Given the description of an element on the screen output the (x, y) to click on. 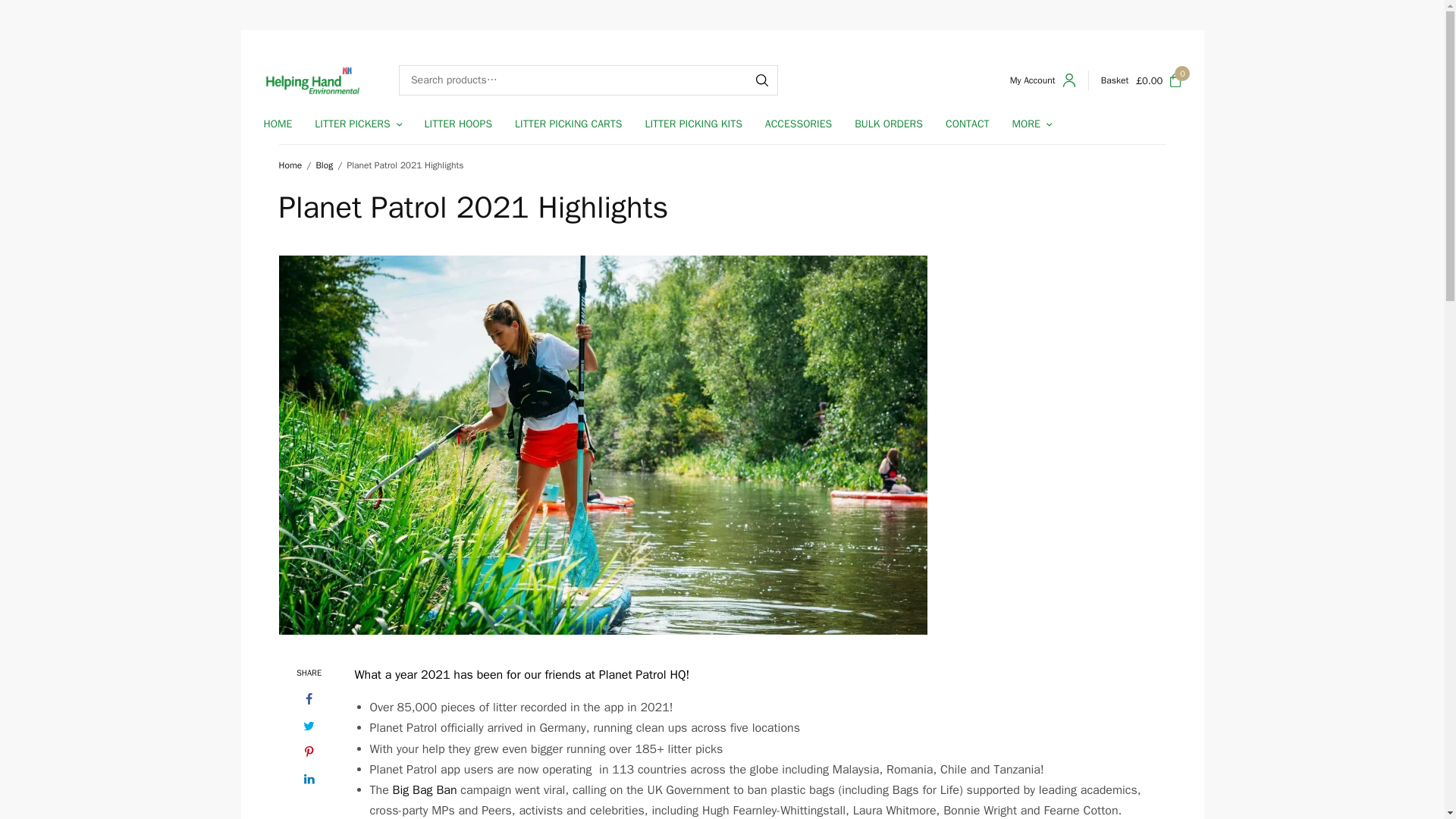
HOME (277, 123)
LITTER HOOPS (459, 123)
LITTER PICKERS (357, 123)
Blog (324, 165)
Home (290, 165)
Search (762, 80)
LITTER PICKING KITS (693, 123)
Helping Hand Environmental (312, 80)
ACCESSORIES (798, 123)
My Account (1042, 80)
